Given the description of an element on the screen output the (x, y) to click on. 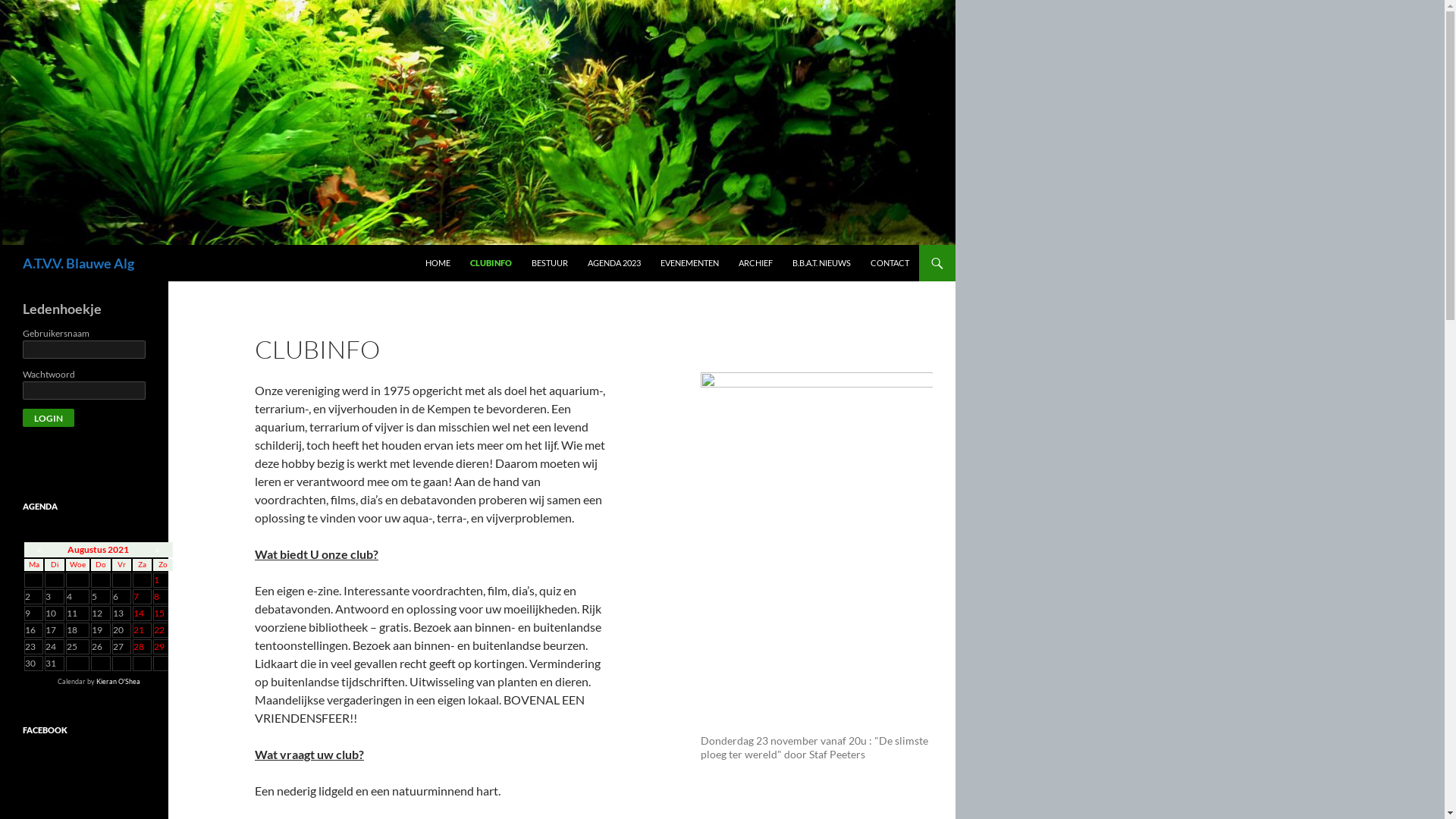
B.B.A.T. NIEUWS Element type: text (821, 262)
EVENEMENTEN Element type: text (689, 262)
AGENDA 2023 Element type: text (613, 262)
CLUBINFO Element type: text (490, 262)
A.T.V.V. Blauwe Alg Element type: text (78, 262)
Zoeken Element type: text (3, 244)
GA NAAR DE INHOUD Element type: text (424, 244)
ARCHIEF Element type: text (755, 262)
CONTACT Element type: text (889, 262)
Kieran O'Shea Element type: text (117, 681)
BESTUUR Element type: text (549, 262)
HOME Element type: text (437, 262)
Login Element type: text (48, 417)
